Given the description of an element on the screen output the (x, y) to click on. 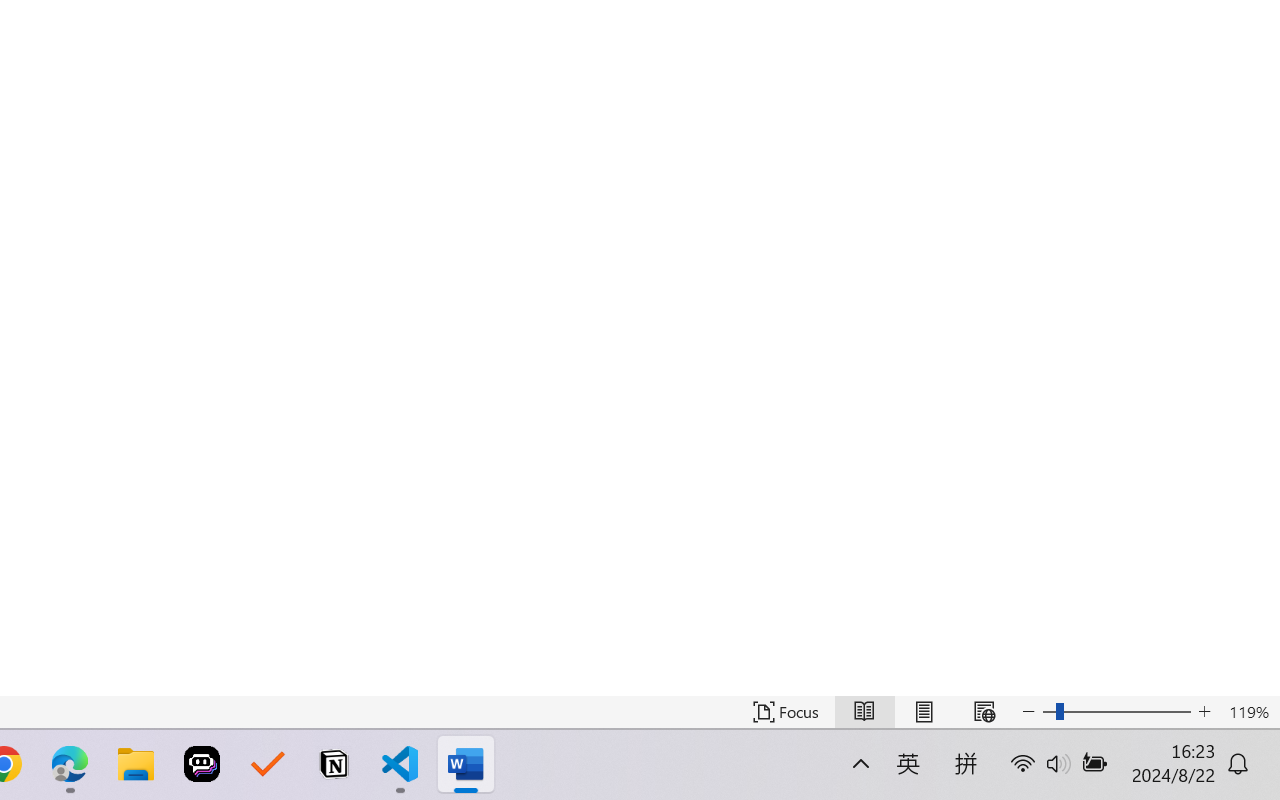
Increase Text Size (1204, 712)
Decrease Text Size (1028, 712)
Text Size (1116, 712)
